Given the description of an element on the screen output the (x, y) to click on. 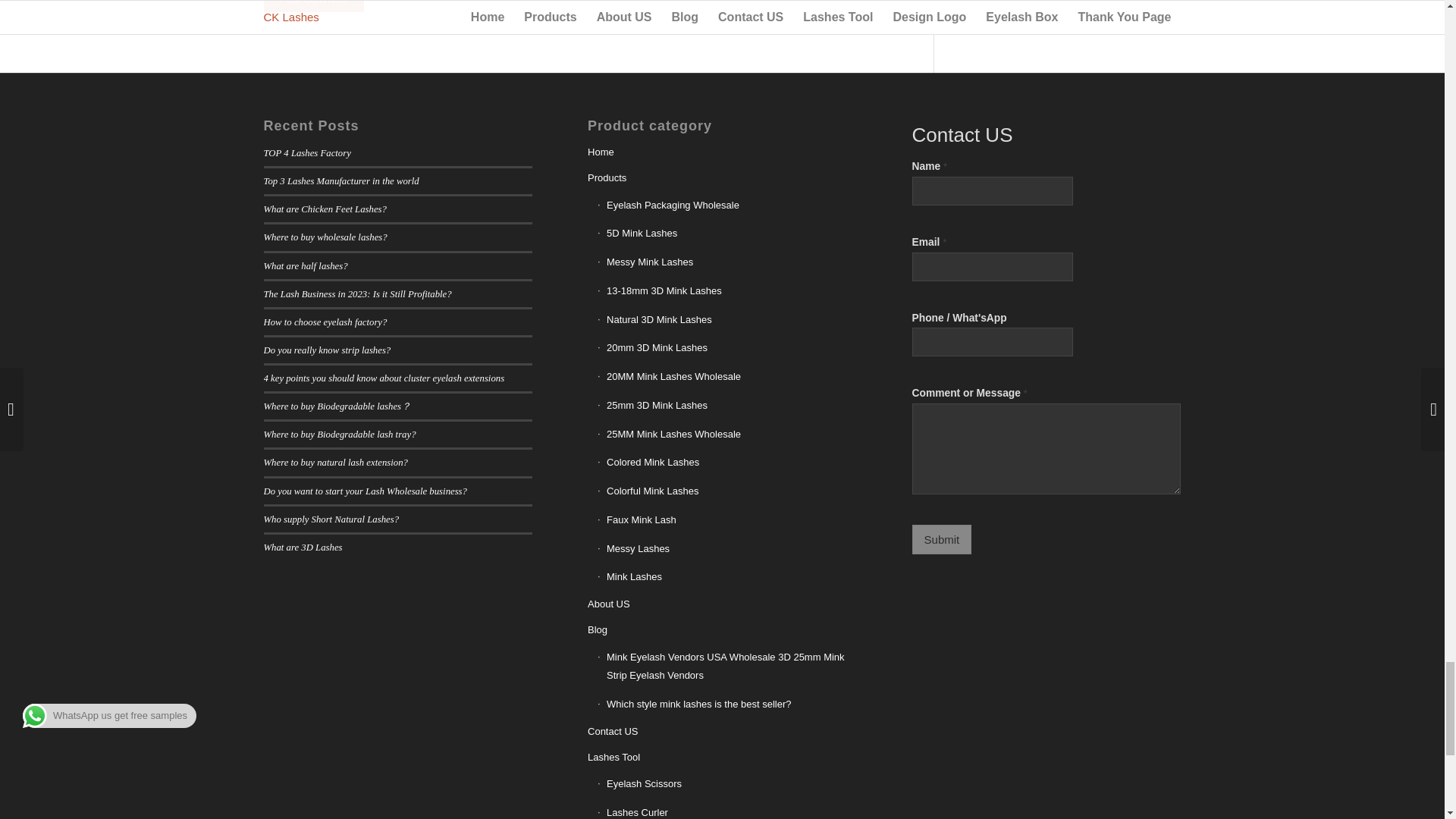
Post Comment (313, 6)
